Given the description of an element on the screen output the (x, y) to click on. 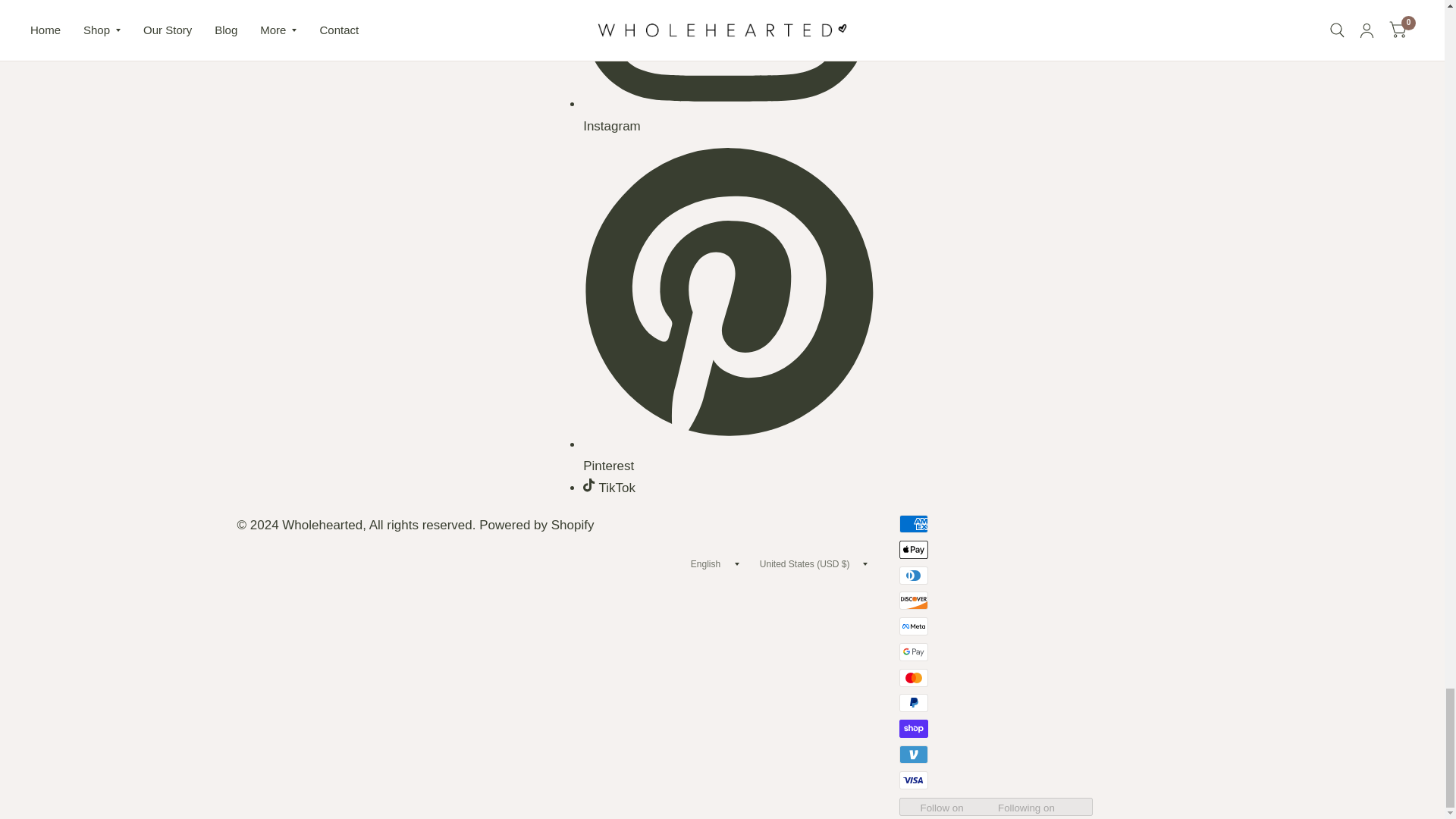
Diners Club (913, 575)
American Express (913, 524)
Apple Pay (913, 549)
